Given the description of an element on the screen output the (x, y) to click on. 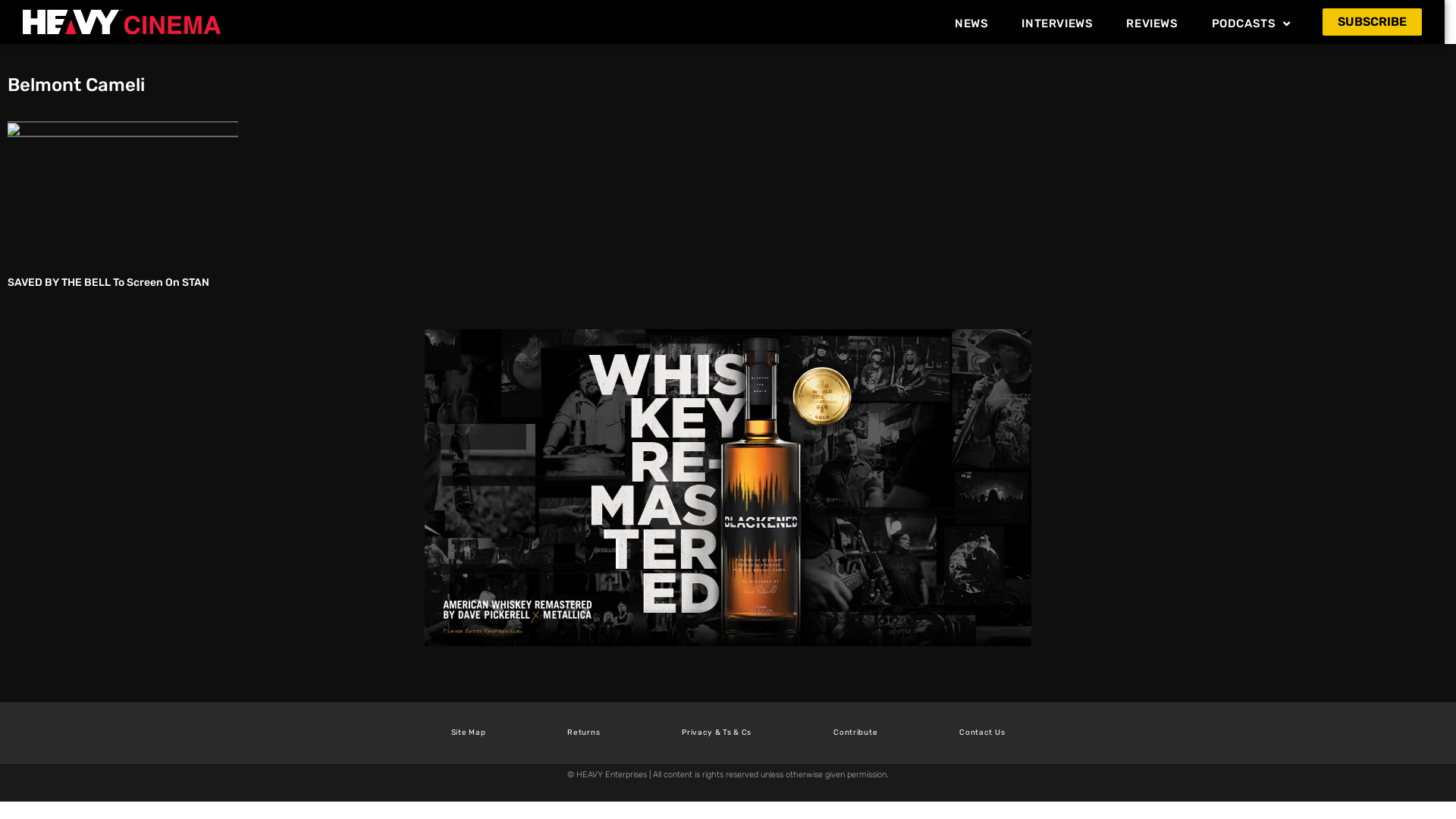
Returns Element type: text (583, 732)
NEWS Element type: text (971, 23)
Contact Us Element type: text (981, 732)
SAVED BY THE BELL To Screen On STAN Element type: text (108, 282)
PODCASTS Element type: text (1251, 23)
REVIEWS Element type: text (1151, 23)
Contribute Element type: text (855, 732)
Privacy & Ts & Cs Element type: text (716, 732)
INTERVIEWS Element type: text (1056, 23)
SUBSCRIBE Element type: text (1371, 20)
Site Map Element type: text (468, 732)
